Given the description of an element on the screen output the (x, y) to click on. 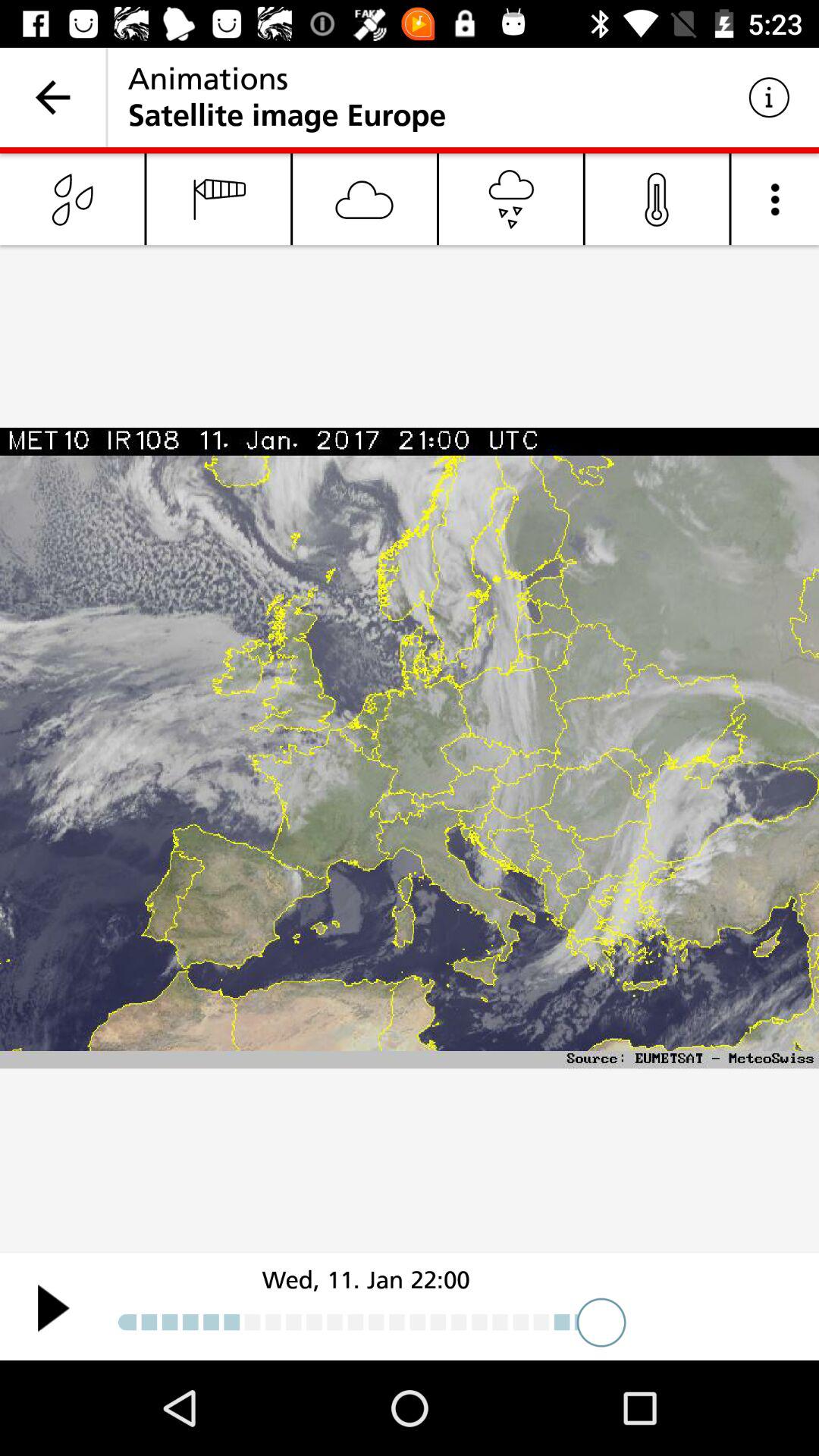
play weather forecasts (53, 1307)
